Given the description of an element on the screen output the (x, y) to click on. 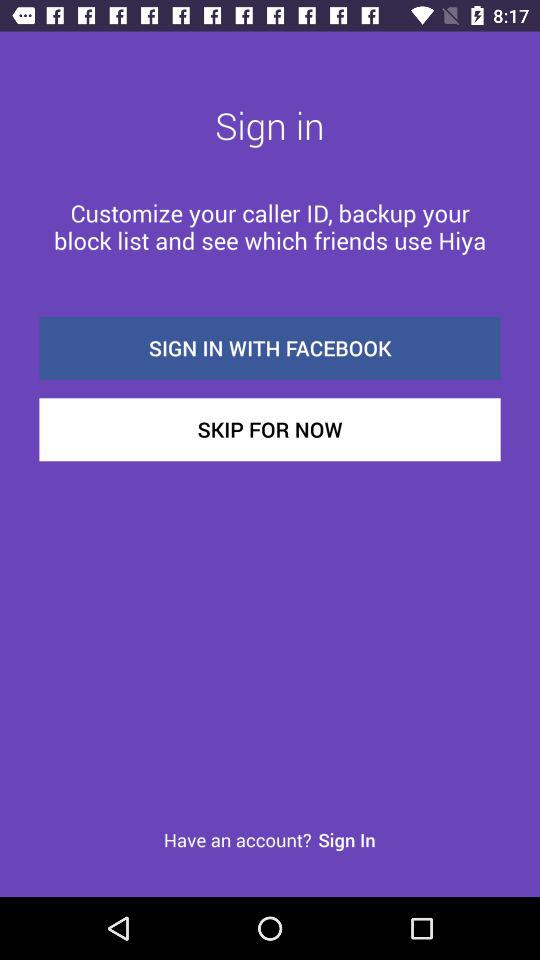
scroll until the customize your caller icon (269, 226)
